Given the description of an element on the screen output the (x, y) to click on. 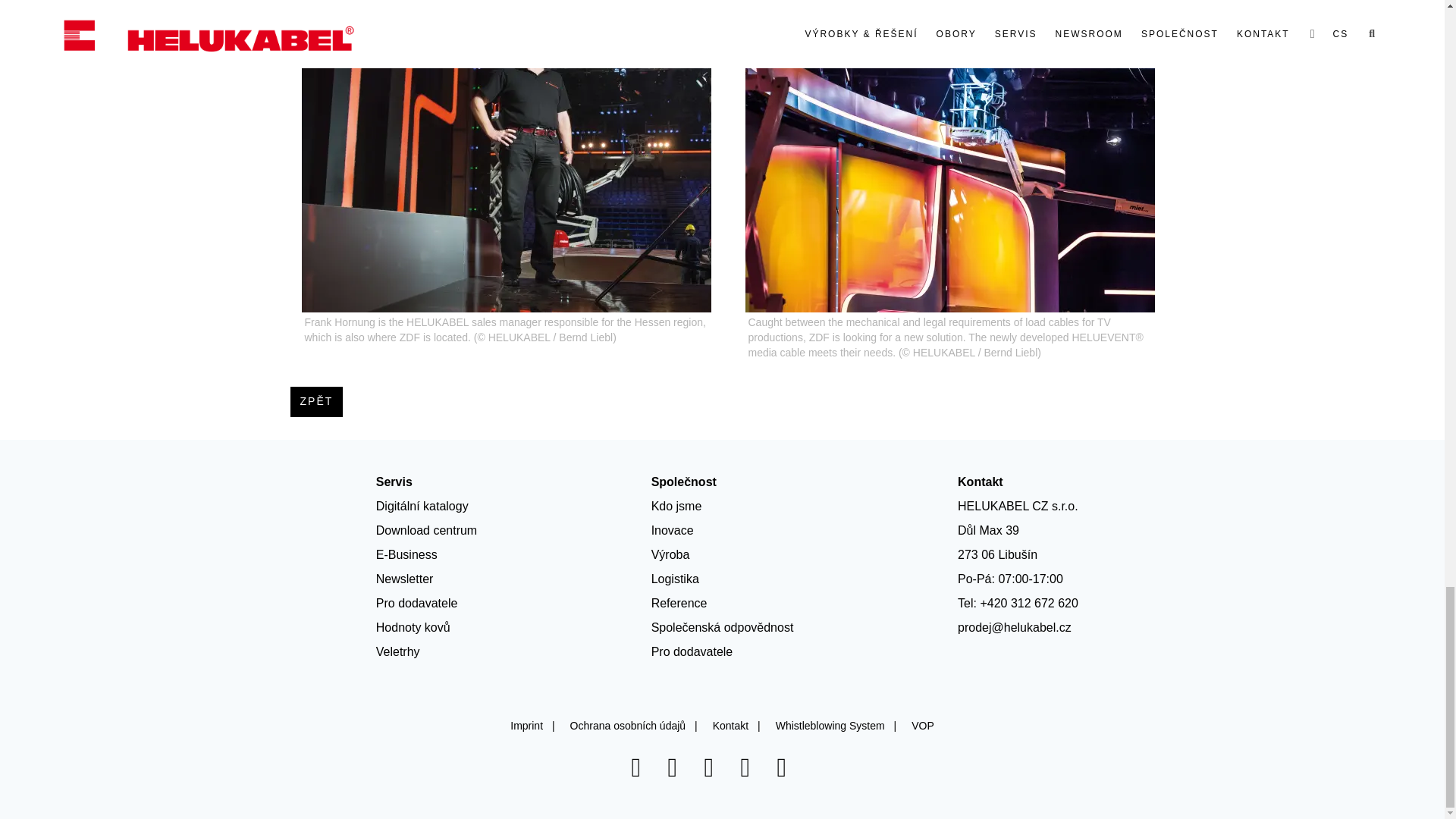
tv studio (949, 158)
Frank Hornung in the tv studio (506, 158)
